Given the description of an element on the screen output the (x, y) to click on. 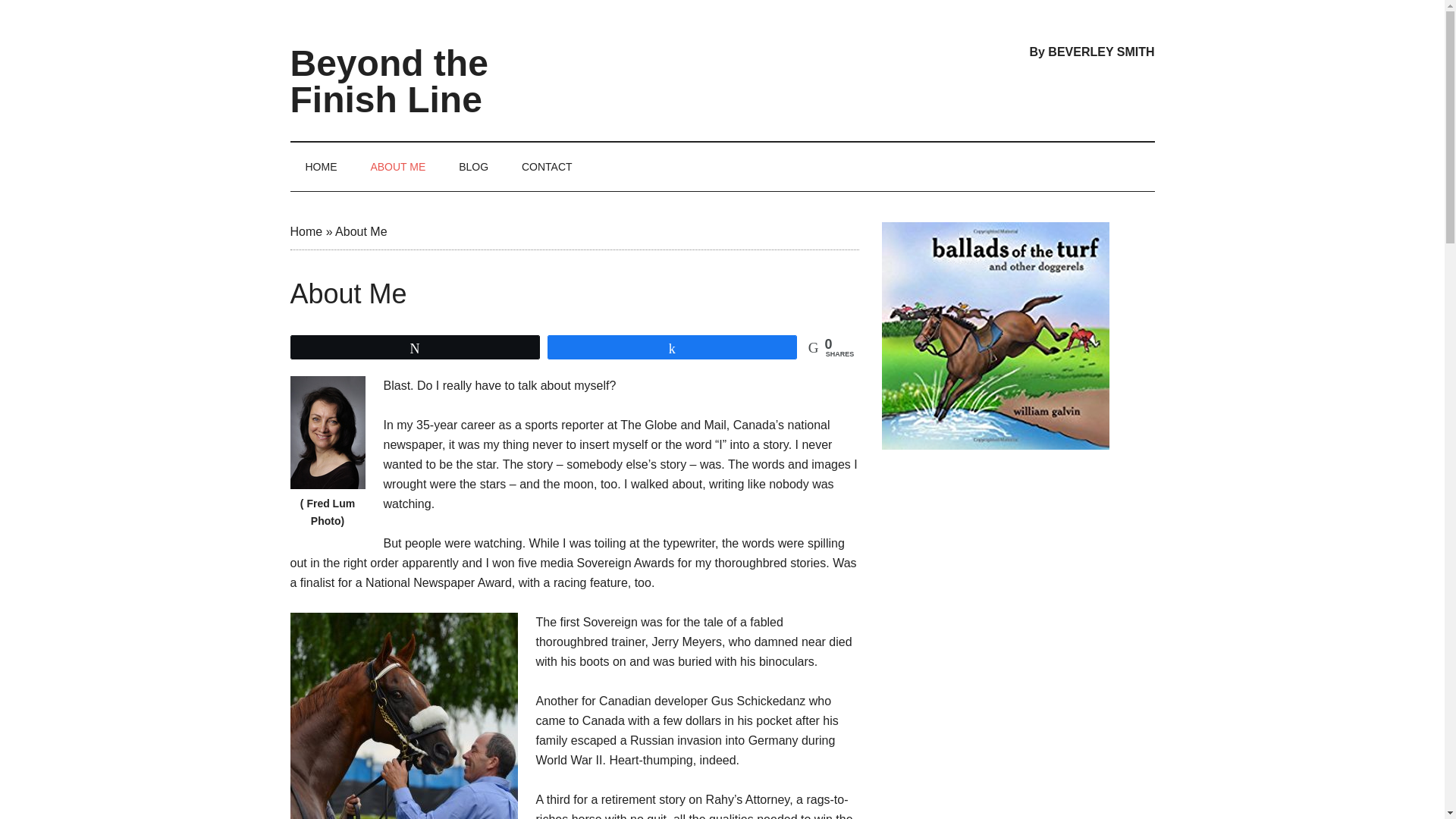
Beyond the Finish Line (388, 81)
ABOUT ME (398, 166)
HOME (320, 166)
BLOG (473, 166)
CONTACT (547, 166)
Home (305, 231)
